Given the description of an element on the screen output the (x, y) to click on. 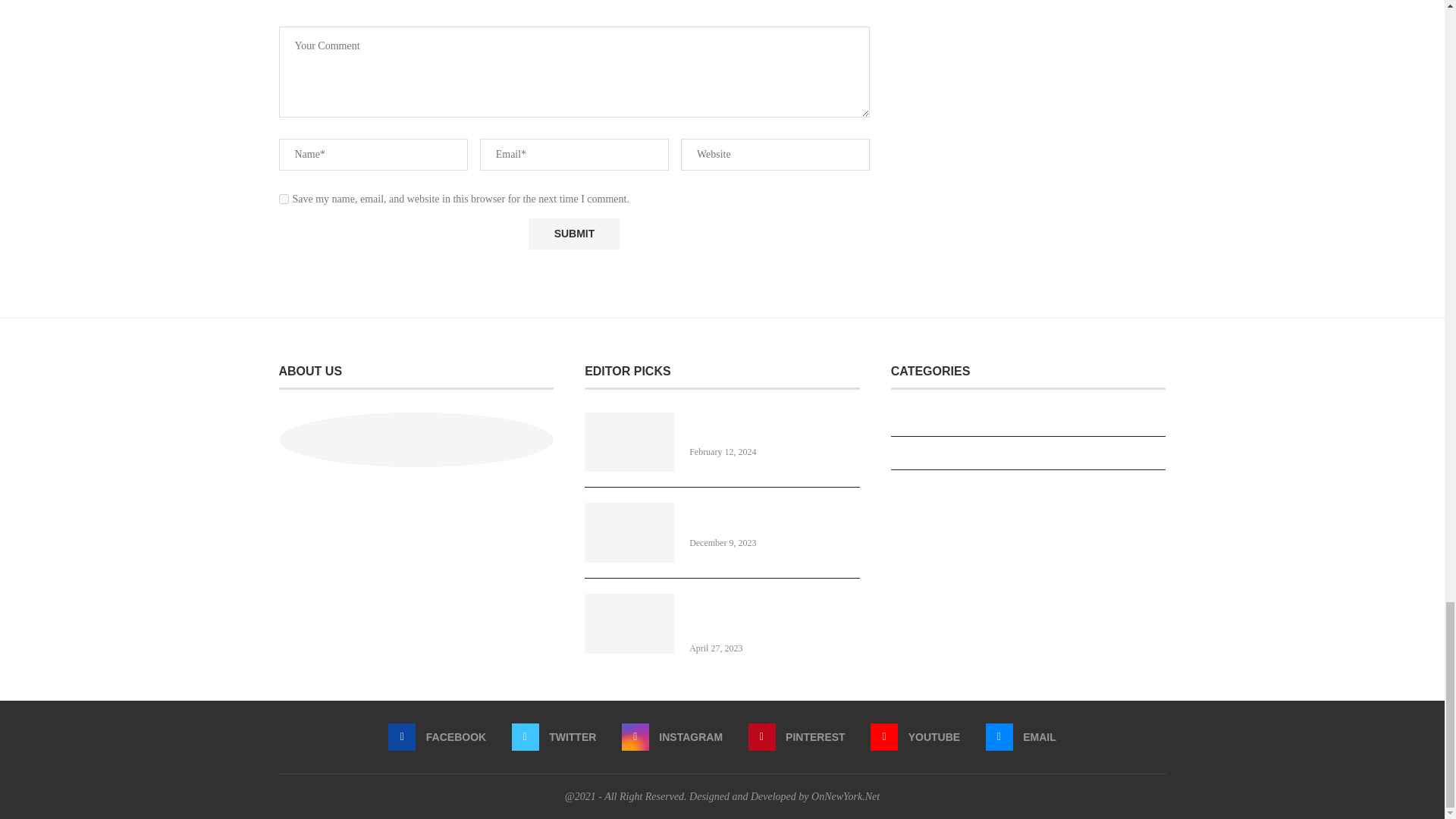
Submit (574, 233)
yes (283, 198)
